Given the description of an element on the screen output the (x, y) to click on. 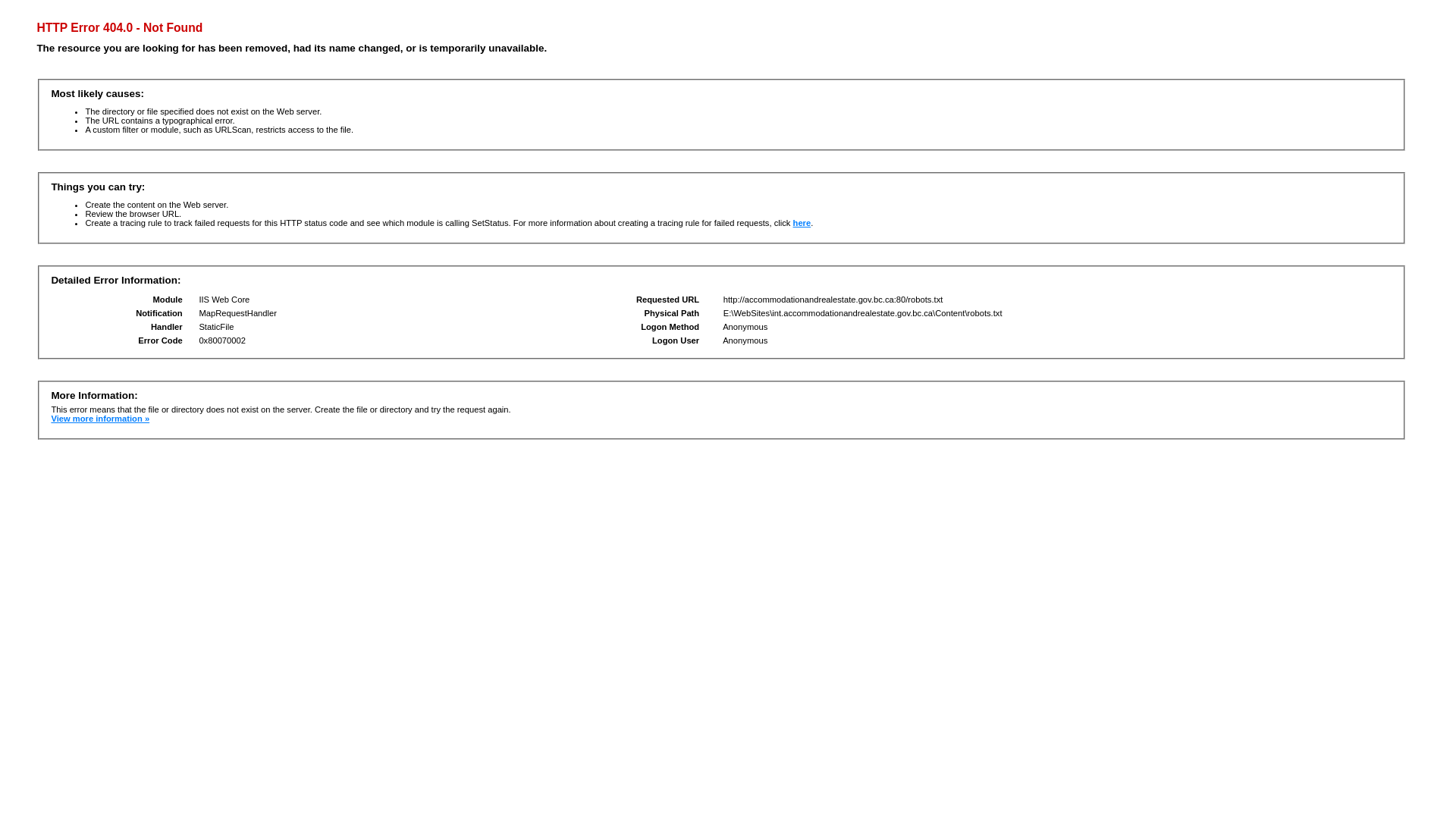
here Element type: text (802, 222)
